Given the description of an element on the screen output the (x, y) to click on. 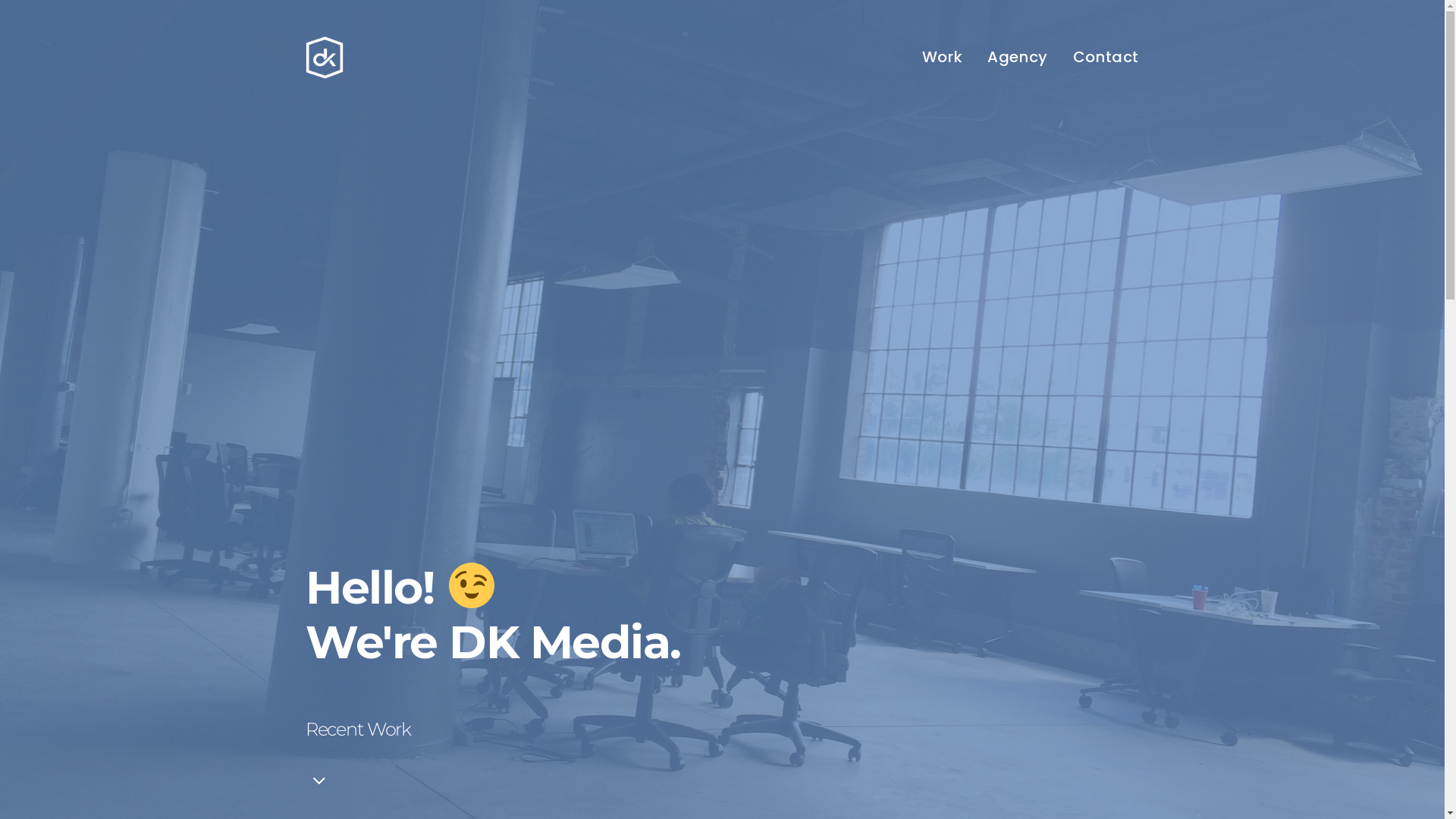
Work Element type: text (942, 57)
Agency Element type: text (1017, 57)
Contact Element type: text (1106, 57)
